Given the description of an element on the screen output the (x, y) to click on. 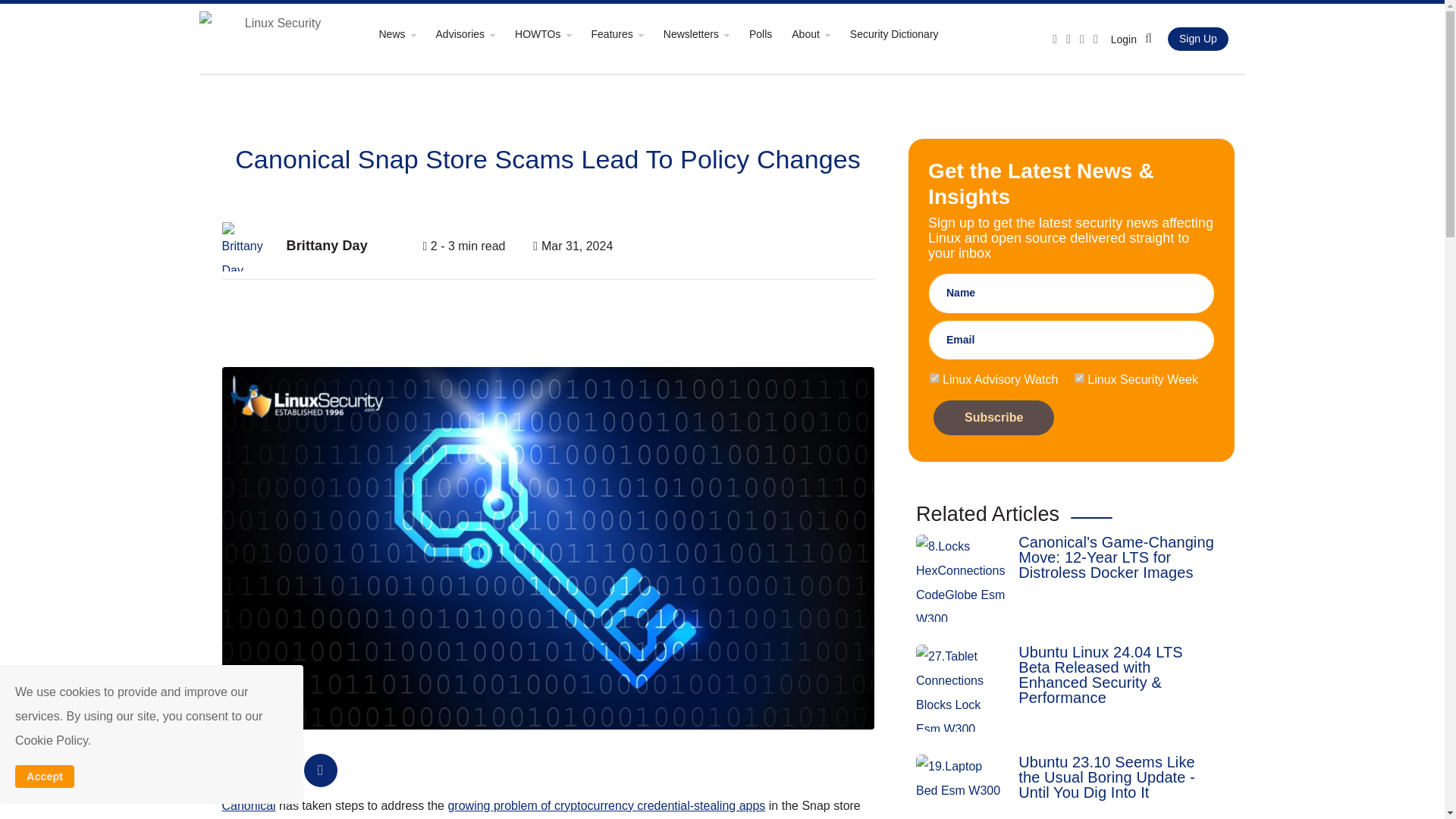
Subscribe (992, 417)
Advisories (473, 33)
HOWTOs (551, 33)
News (405, 33)
News (405, 33)
Linux Security (275, 37)
Advisories (473, 33)
Features (625, 33)
